Given the description of an element on the screen output the (x, y) to click on. 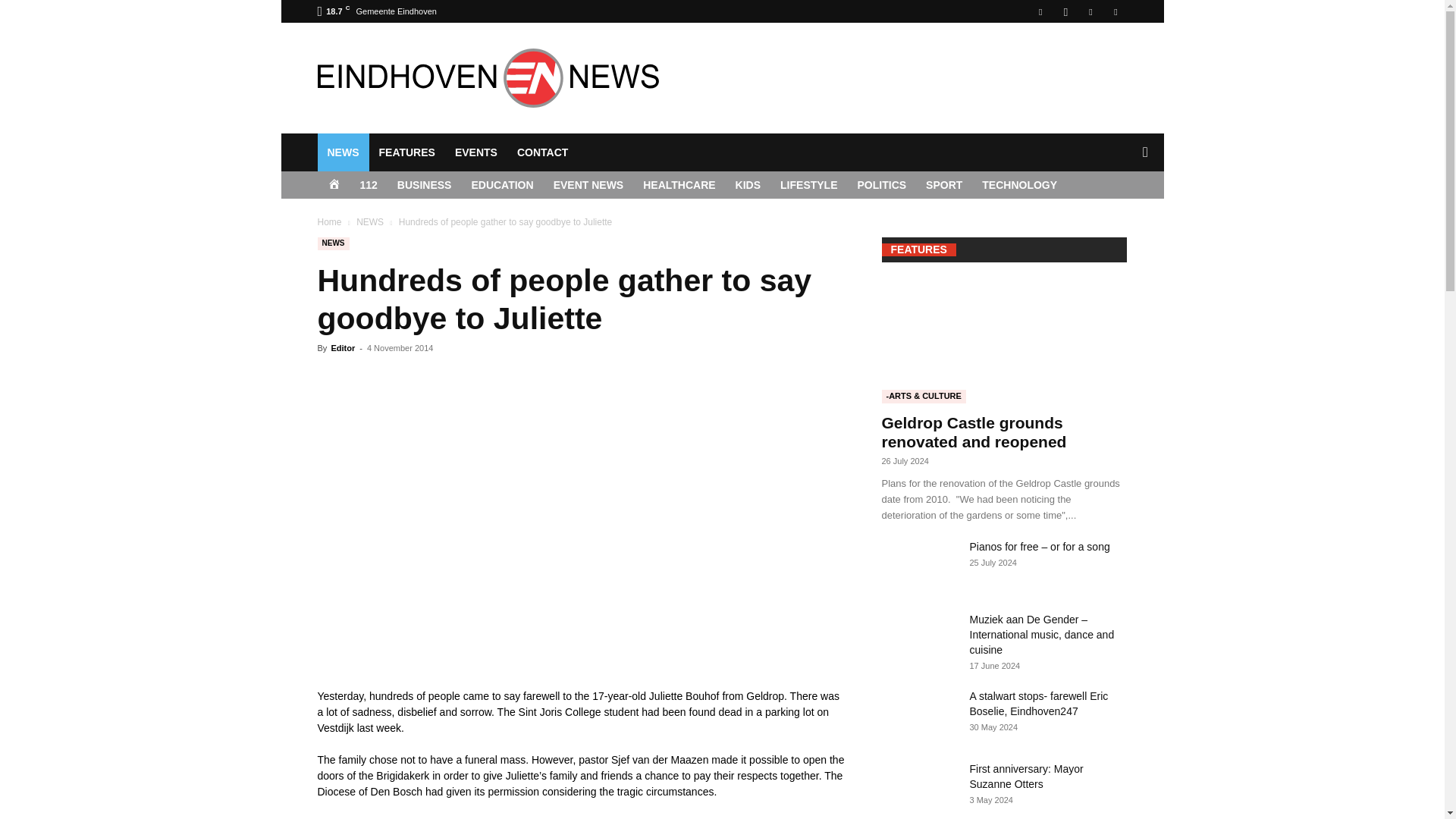
Linkedin (1090, 11)
CONTACT (542, 152)
View all posts in NEWS (370, 222)
Facebook (1040, 11)
Instagram (1065, 11)
EDUCATION (502, 185)
FEATURES (406, 152)
112 (368, 185)
Twitter (1114, 11)
EVENT NEWS (588, 185)
NEWS (342, 152)
EVENTS (475, 152)
BUSINESS (424, 185)
HEALTHCARE (679, 185)
